Given the description of an element on the screen output the (x, y) to click on. 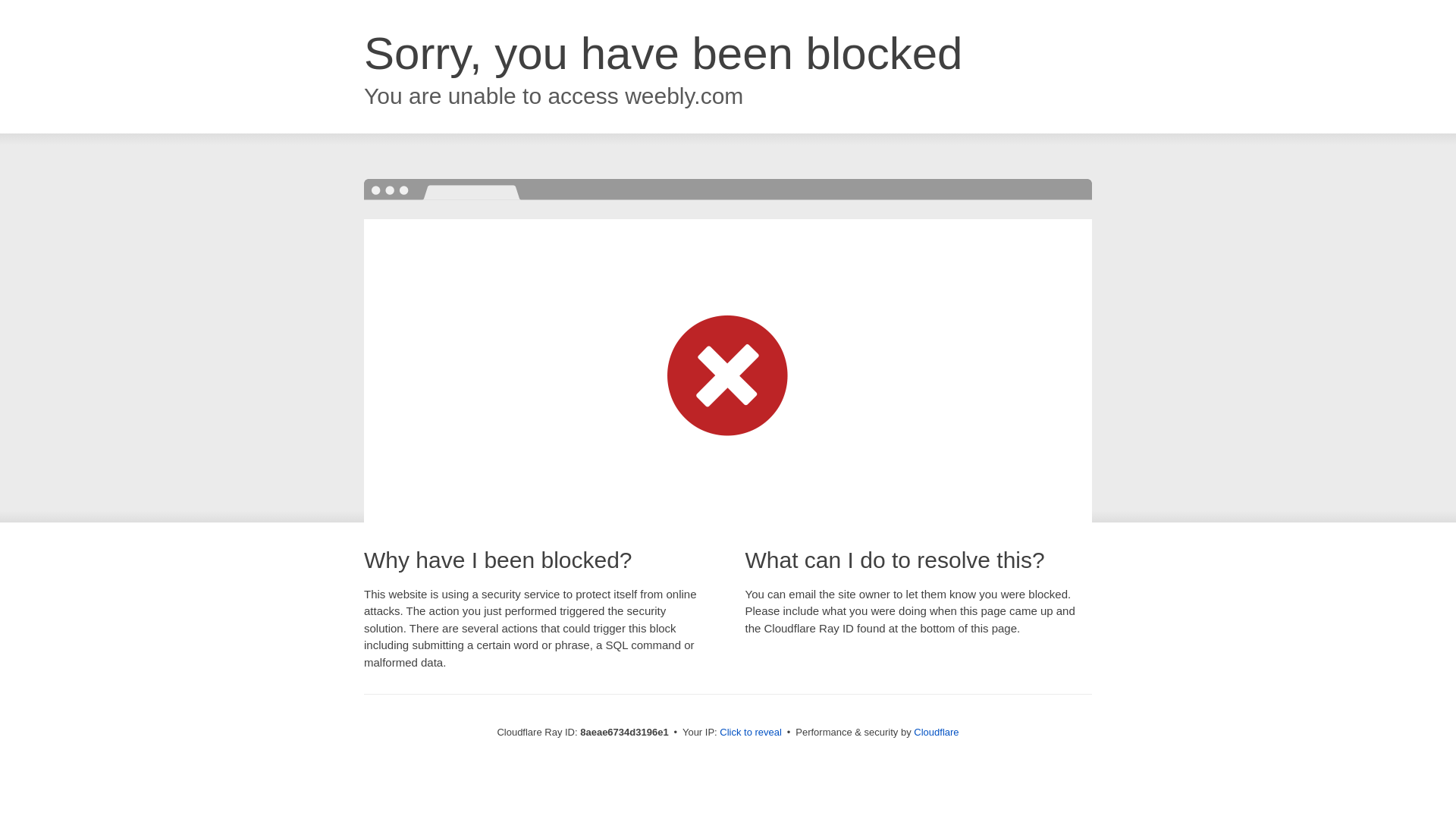
Click to reveal (750, 732)
Cloudflare (936, 731)
